Given the description of an element on the screen output the (x, y) to click on. 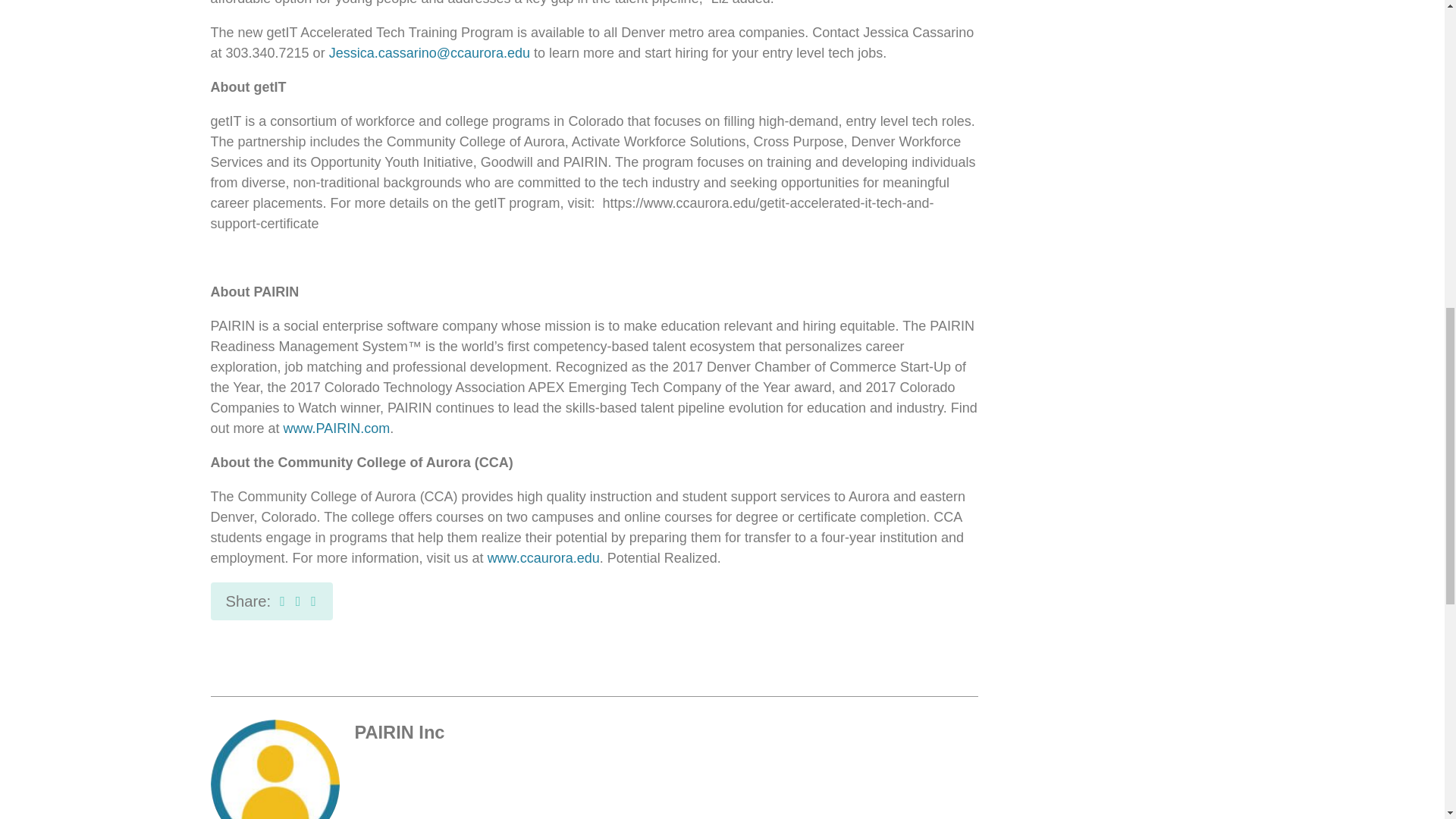
www.ccaurora.edu (543, 557)
www.PAIRIN.com (336, 427)
